Given the description of an element on the screen output the (x, y) to click on. 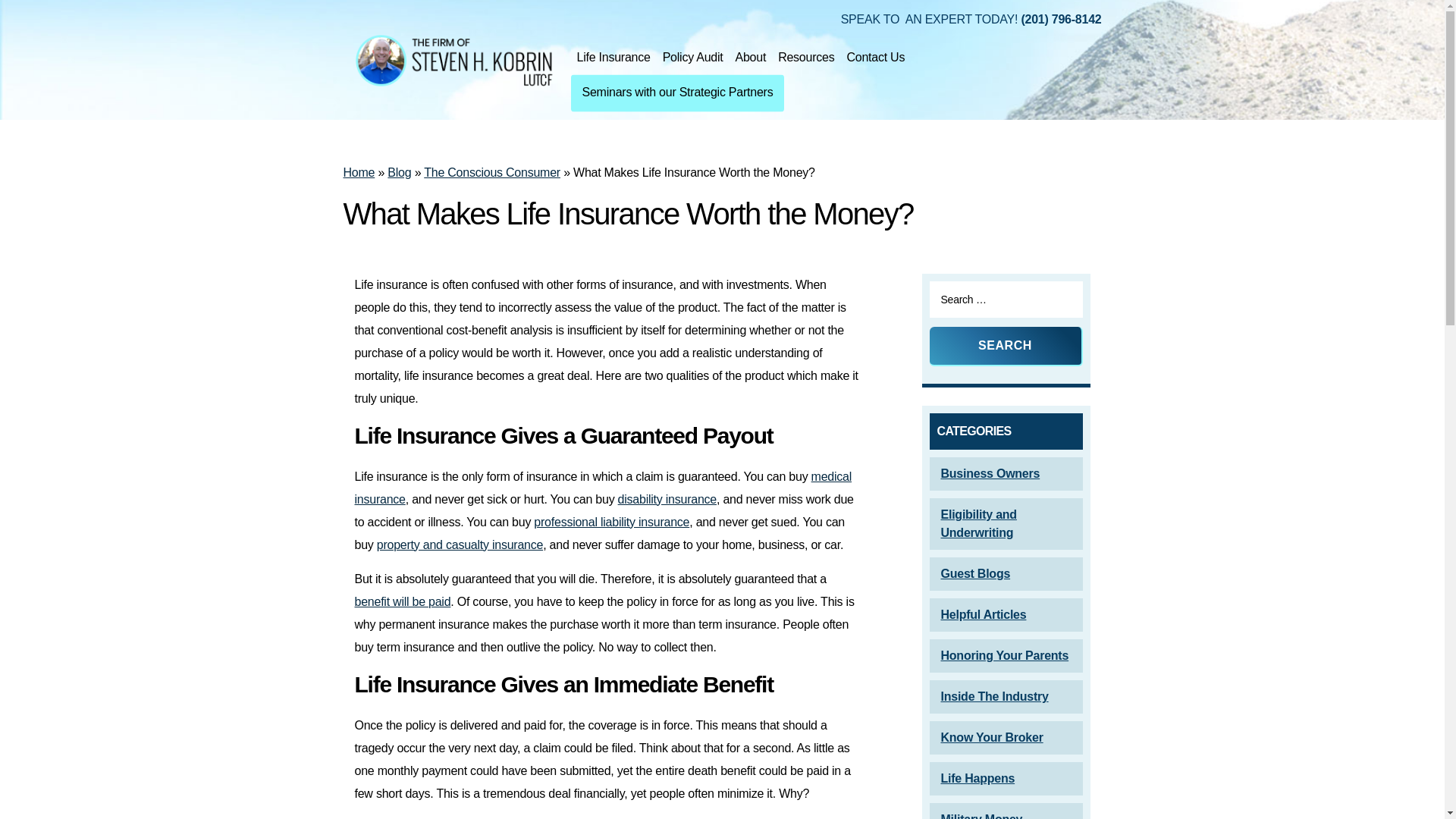
Home (358, 172)
Blog (398, 172)
Search (1006, 346)
About (751, 57)
The Conscious Consumer (491, 172)
Life Insurance (613, 57)
Blog (398, 172)
Seminars with our Strategic Partners (677, 92)
Policy Audit (692, 57)
The Conscious Consumer (491, 172)
medical insurance (603, 488)
Home (358, 172)
Resources (805, 57)
Search (1006, 346)
Contact Us (875, 57)
